Given the description of an element on the screen output the (x, y) to click on. 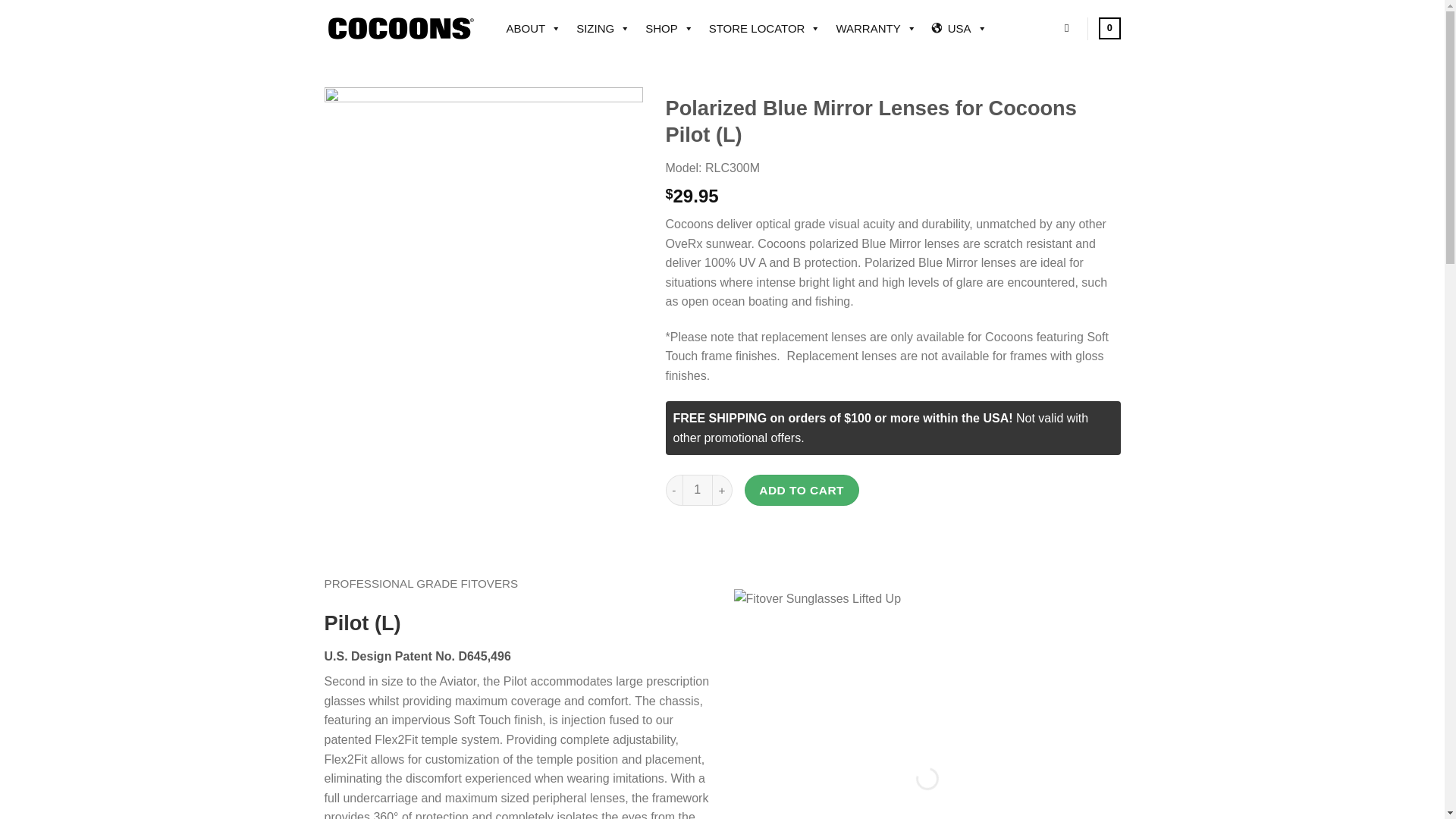
SHOP (669, 28)
ABOUT (534, 28)
Cocoons - Professional Grade Fitovers (400, 28)
1 (697, 490)
SIZING (603, 28)
